Given the description of an element on the screen output the (x, y) to click on. 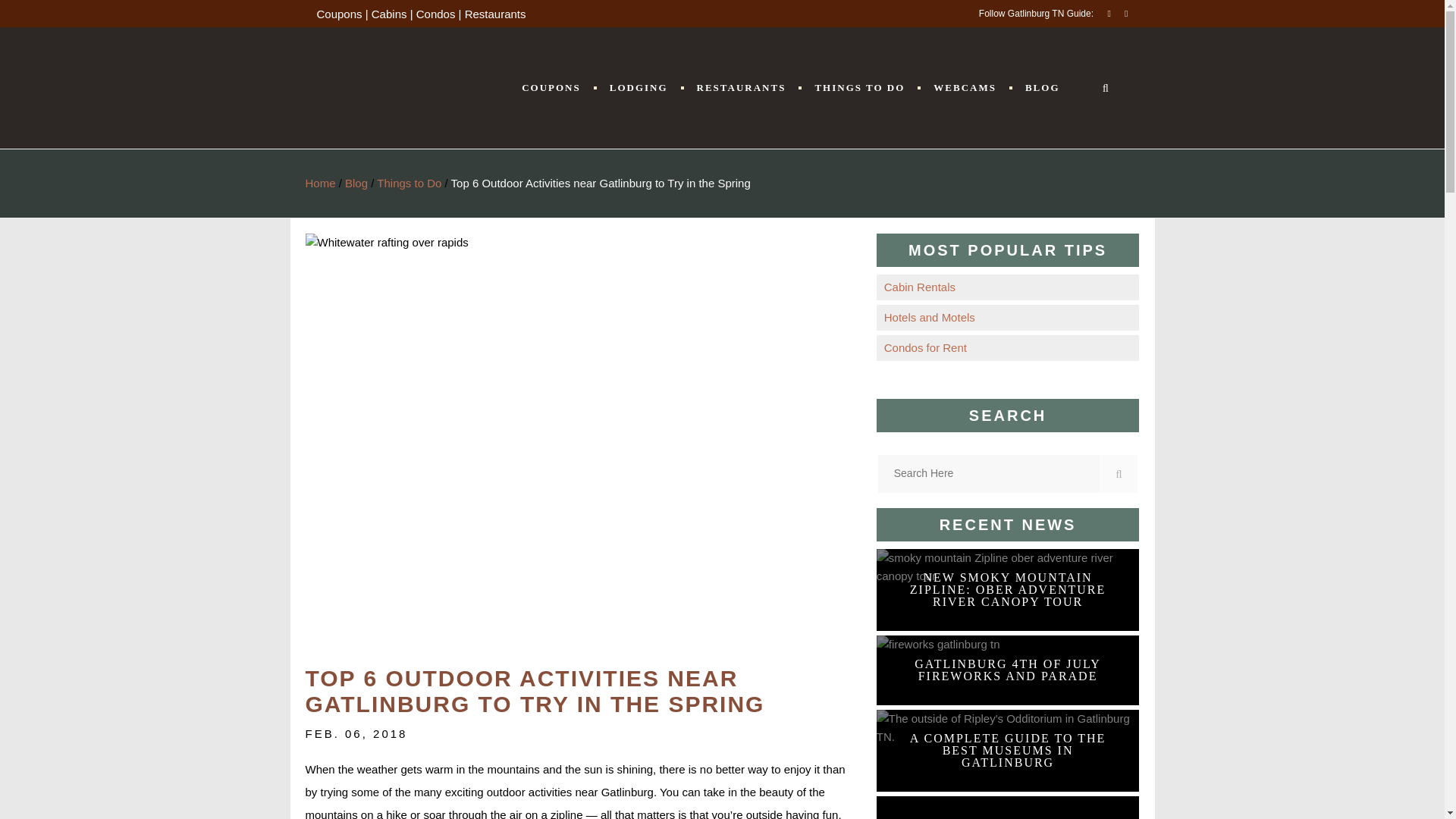
Condos (435, 13)
Restaurants (494, 13)
Condo Rentals (1007, 347)
Coupons (339, 13)
Hotels and Motels (1007, 317)
Cabin Rentals (1007, 287)
Cabins (389, 13)
